Given the description of an element on the screen output the (x, y) to click on. 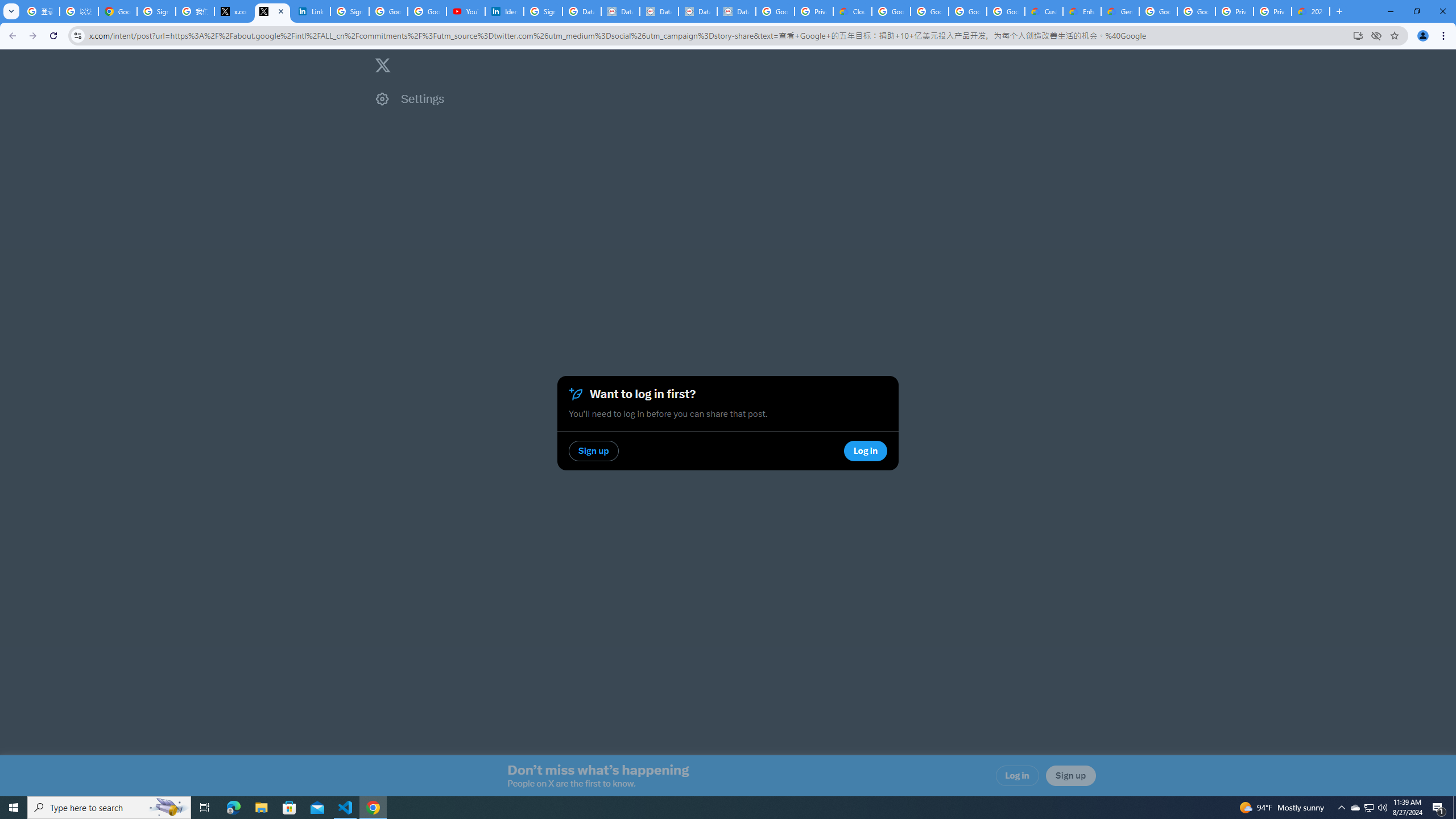
Data Privacy Framework (736, 11)
Sign in - Google Accounts (156, 11)
Data Privacy Framework (659, 11)
X (272, 11)
Install X (1358, 35)
Google Workspace - Specific Terms (1005, 11)
